Given the description of an element on the screen output the (x, y) to click on. 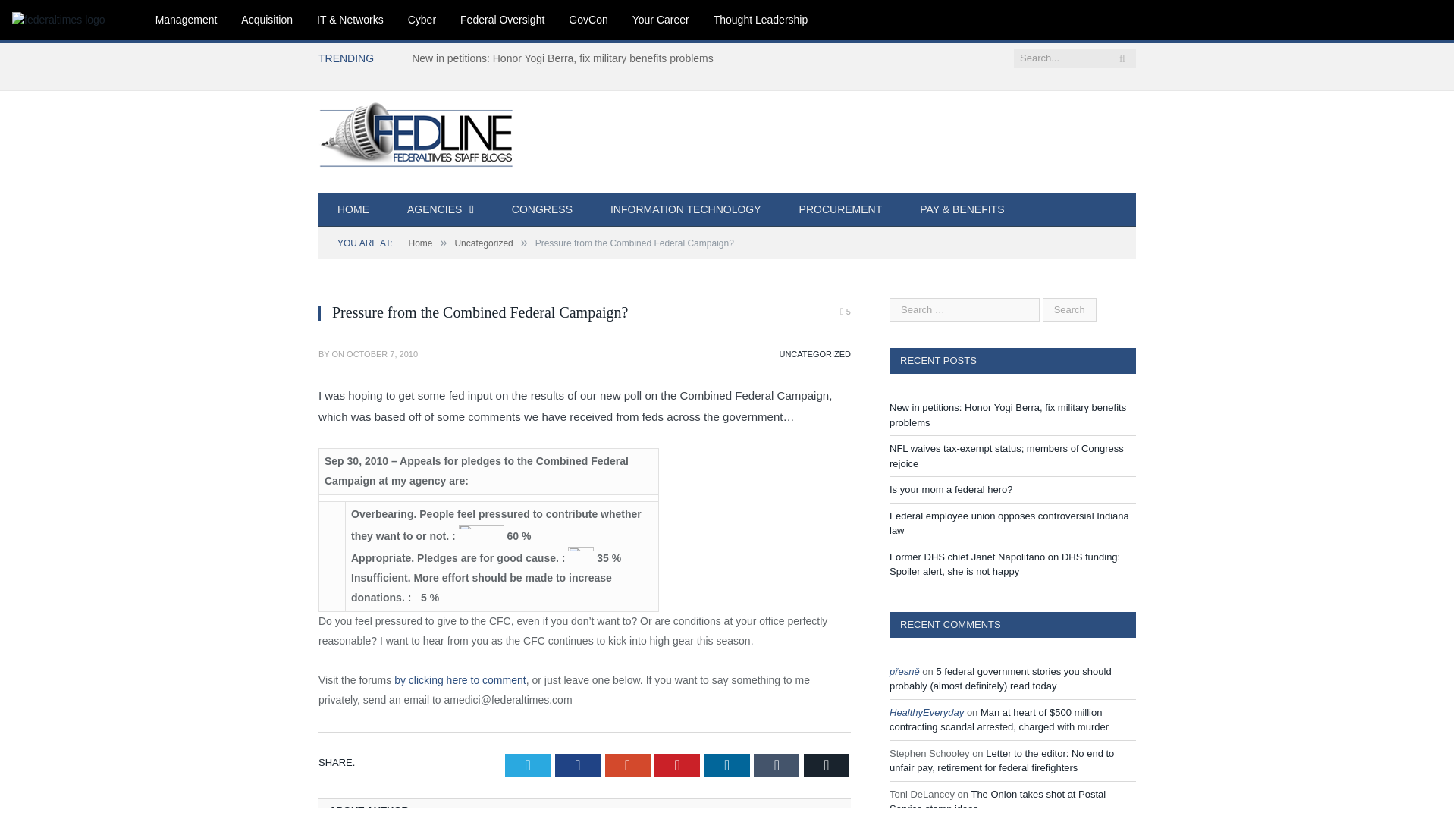
Your Career (660, 19)
PROCUREMENT (840, 210)
Uncategorized (483, 243)
Home (419, 243)
by clicking here to comment (459, 680)
Share on Facebook (576, 764)
Fedline (428, 133)
Federal Oversight (502, 19)
Tweet It (527, 764)
GovCon (588, 19)
